Given the description of an element on the screen output the (x, y) to click on. 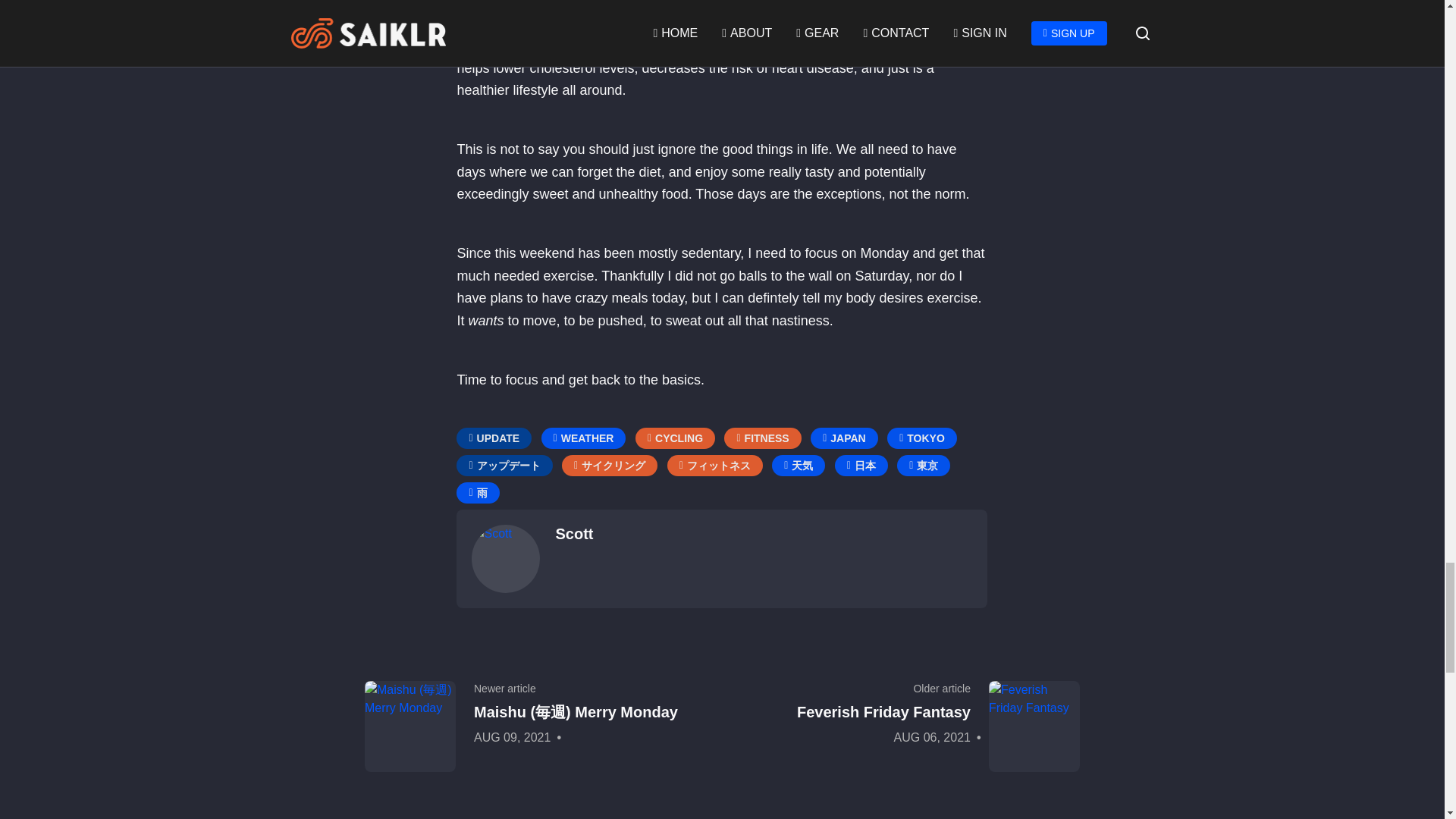
Scott (505, 558)
TOKYO (921, 437)
JAPAN (843, 437)
CYCLING (674, 437)
WEATHER (583, 437)
FITNESS (761, 437)
UPDATE (494, 437)
